Given the description of an element on the screen output the (x, y) to click on. 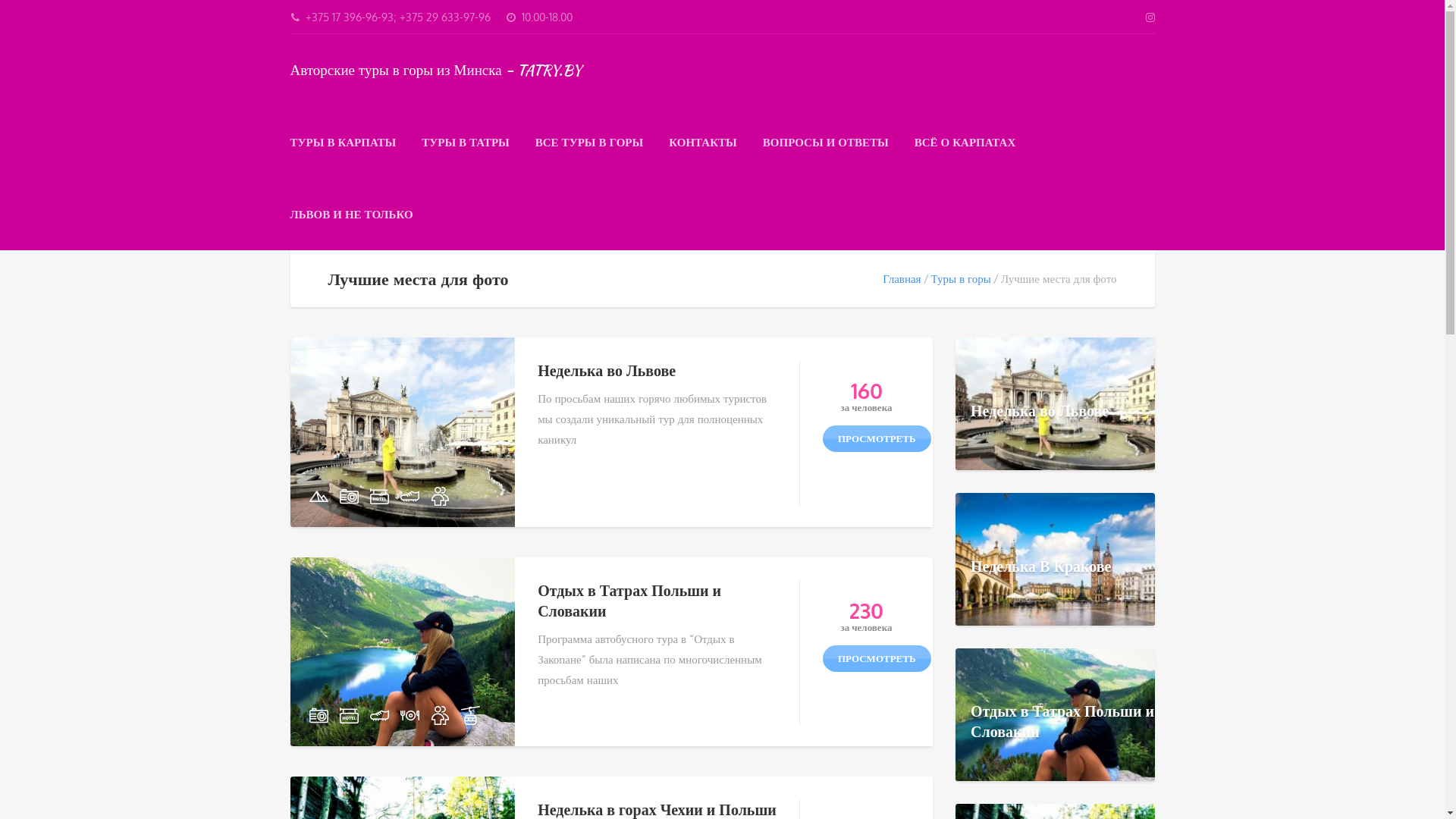
230 Element type: text (866, 612)
160 Element type: text (866, 392)
